Given the description of an element on the screen output the (x, y) to click on. 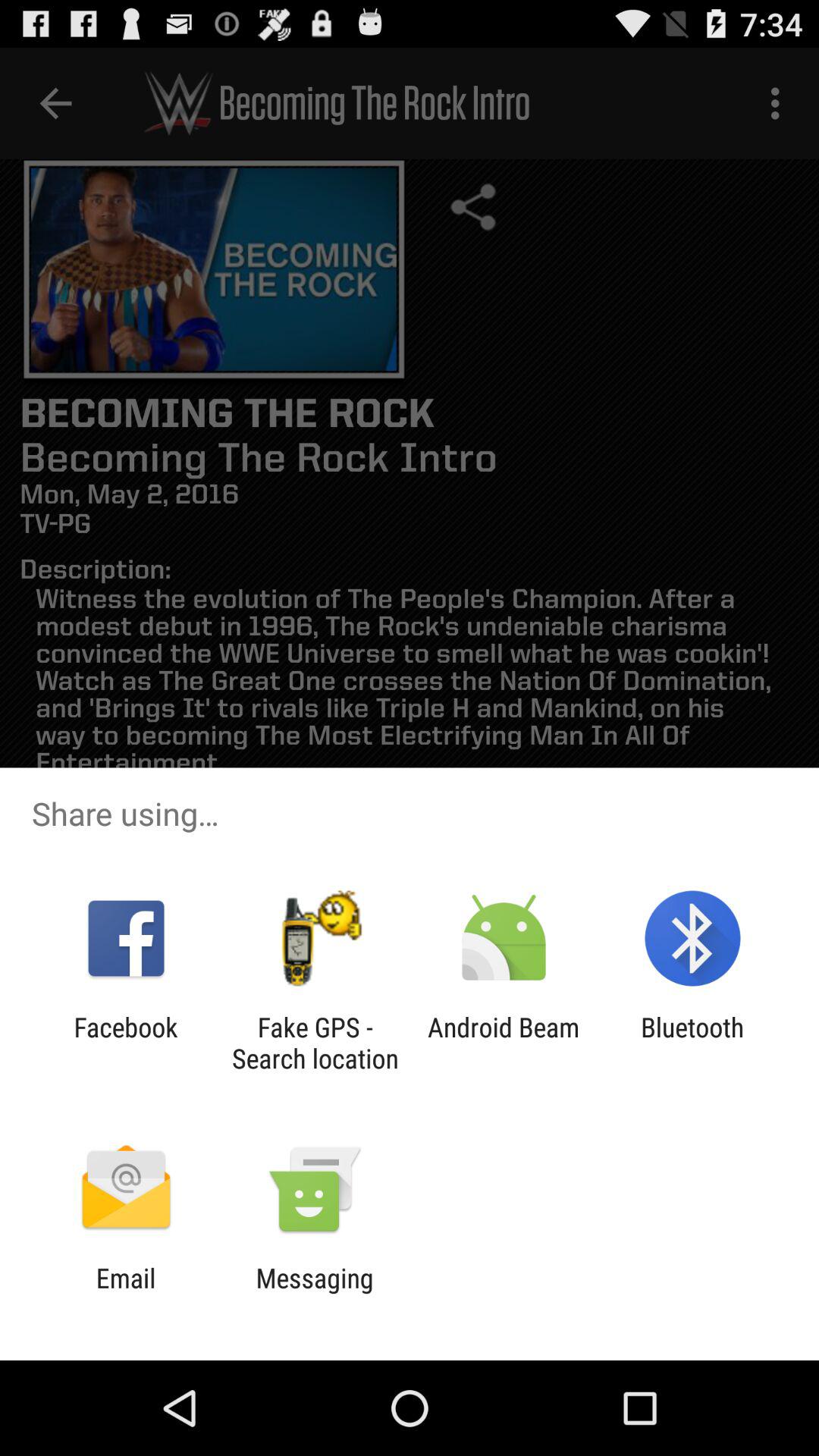
launch app next to the fake gps search app (125, 1042)
